Given the description of an element on the screen output the (x, y) to click on. 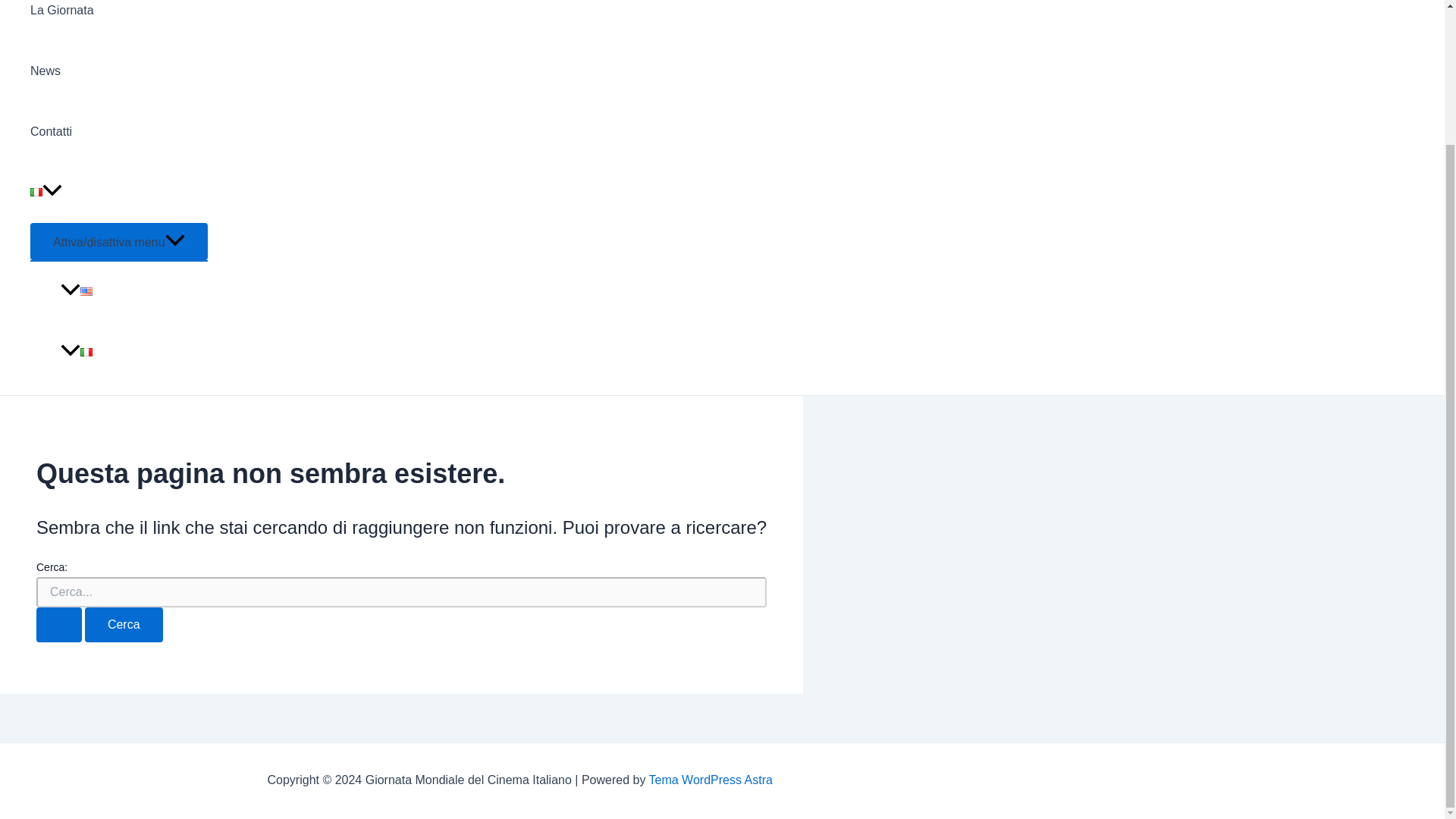
Cerca (123, 624)
News (119, 70)
La Giornata (119, 20)
Tema WordPress Astra (711, 779)
Contatti (119, 131)
Cerca (123, 624)
Cerca (123, 624)
